Given the description of an element on the screen output the (x, y) to click on. 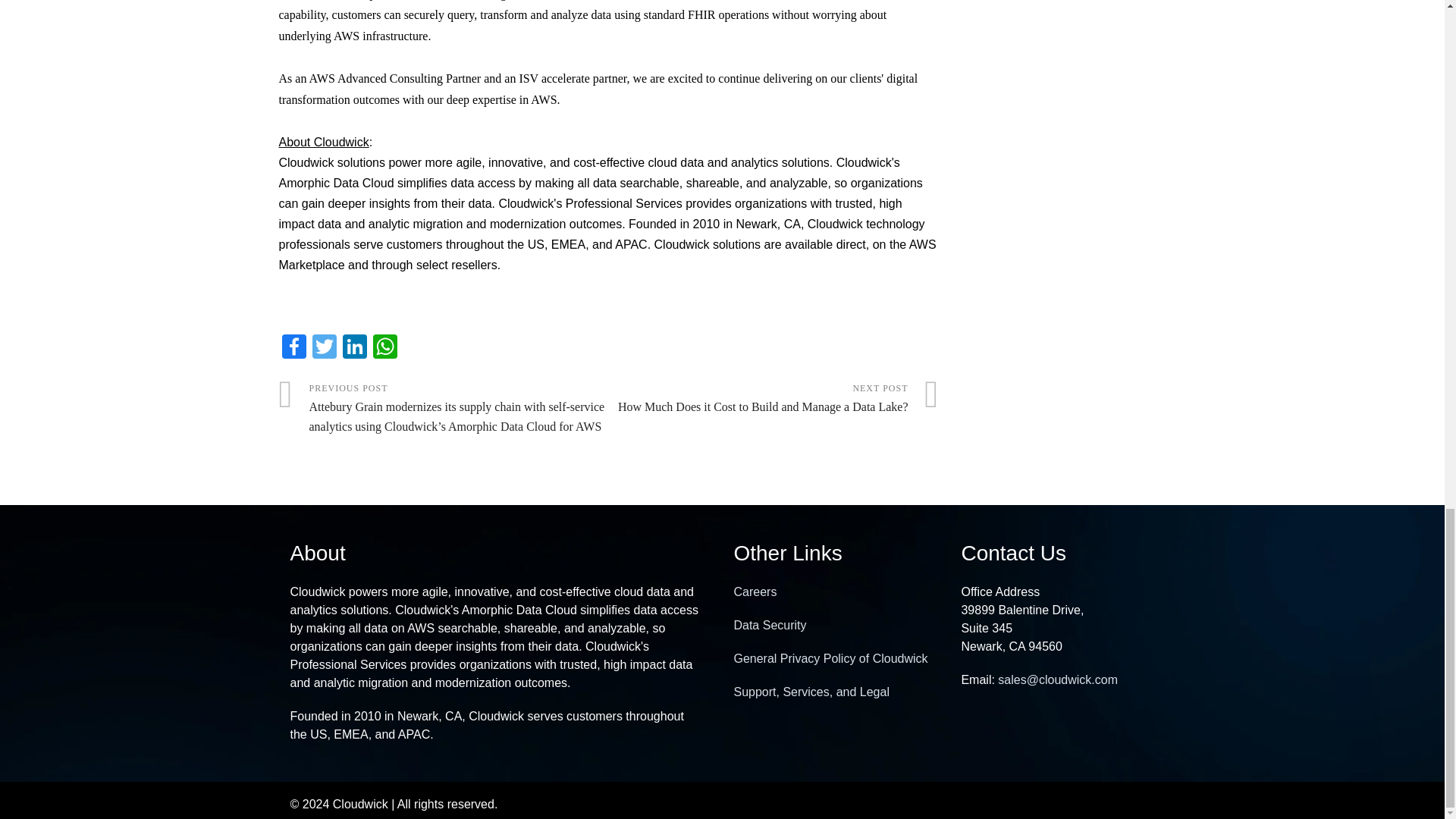
Facebook (293, 346)
Twitter (323, 346)
LinkedIn (354, 346)
WhatsApp (384, 346)
